Given the description of an element on the screen output the (x, y) to click on. 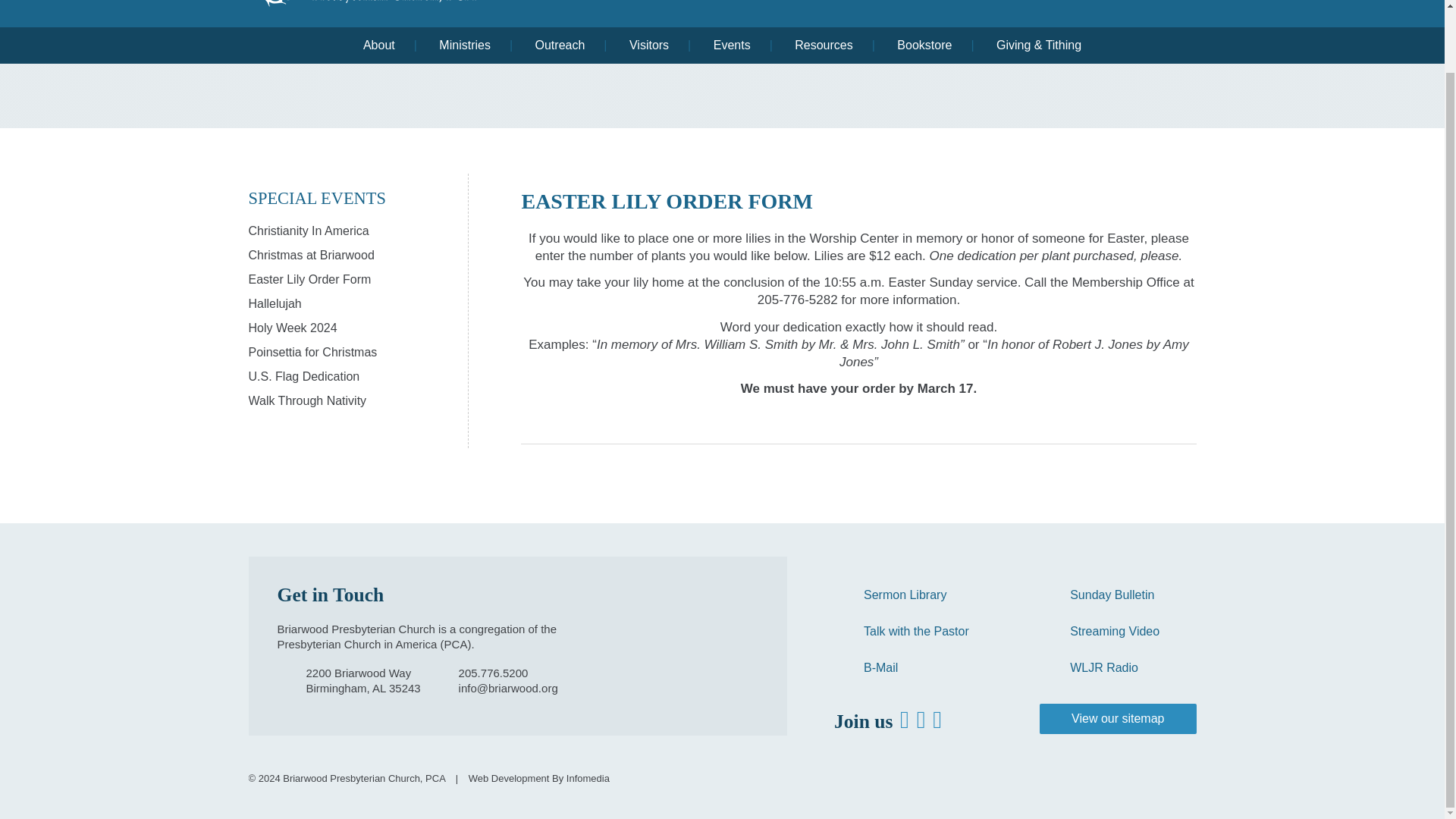
Ministries (464, 45)
About (378, 45)
